Given the description of an element on the screen output the (x, y) to click on. 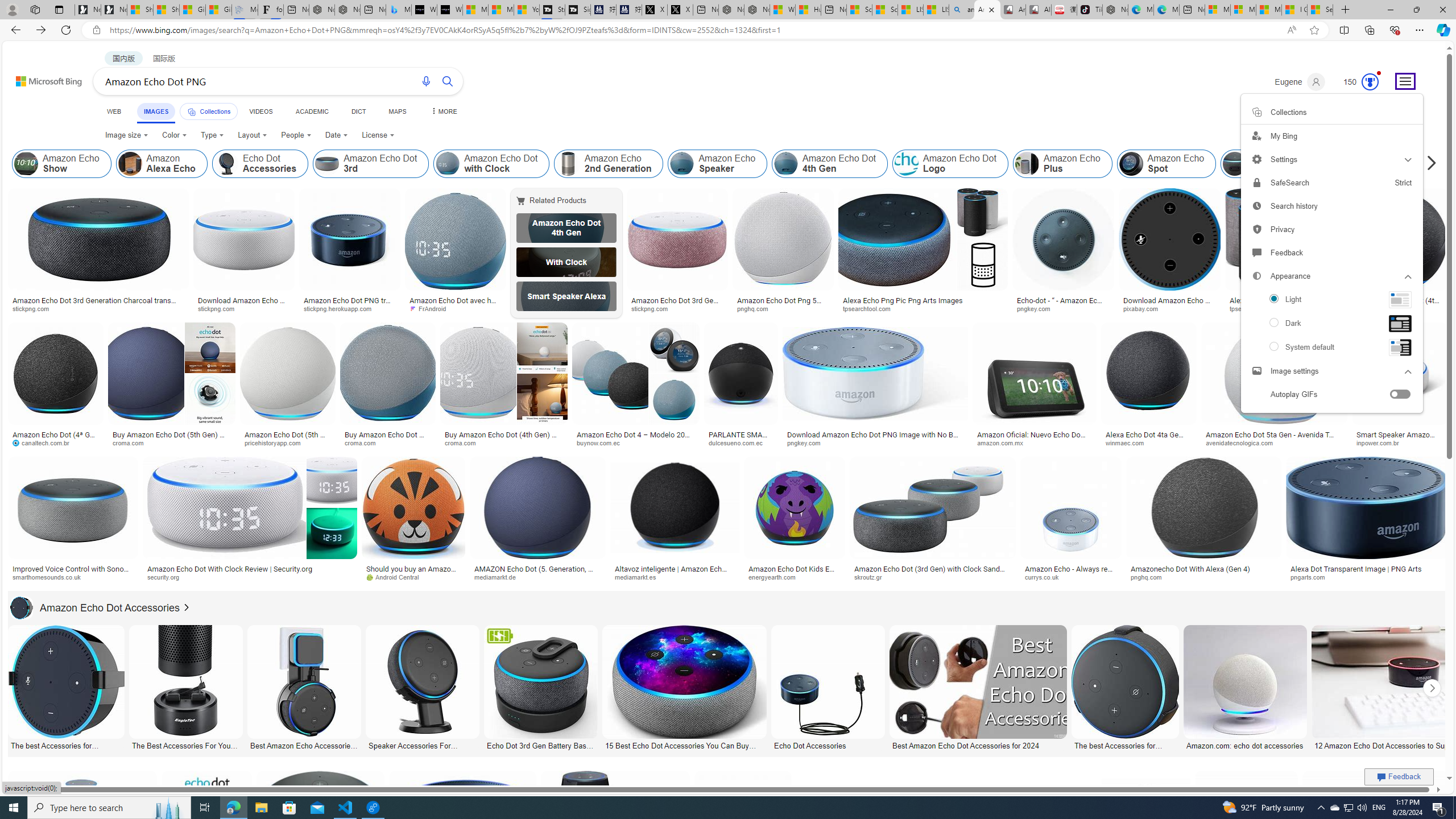
Type (212, 135)
Layout (253, 135)
Alexa Dot Transparent Image | PNG Arts (1366, 568)
Amazon Echo Dot Accessories (95, 607)
Class: medal-svg-animation (1369, 81)
mediamarkt.de (499, 576)
